Given the description of an element on the screen output the (x, y) to click on. 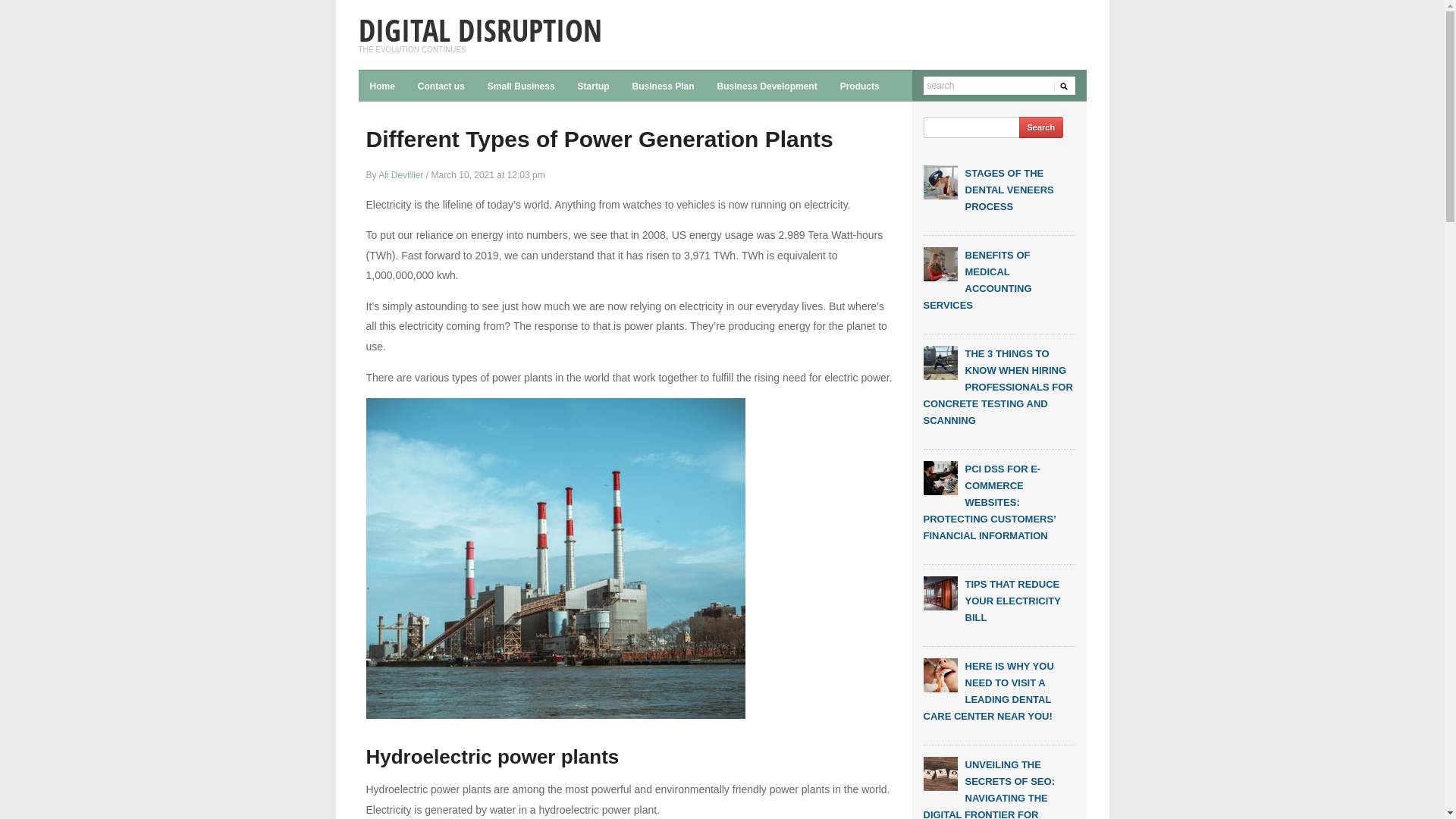
Business Plan Element type: text (663, 85)
Stages of the Dental Veneers Process Element type: hover (940, 181)
Contact us Element type: text (441, 85)
TIPS THAT REDUCE YOUR ELECTRICITY BILL Element type: text (1012, 600)
STAGES OF THE DENTAL VENEERS PROCESS Element type: text (1008, 189)
Startup Element type: text (593, 85)
Benefits of Medical Accounting Services Element type: hover (940, 263)
BENEFITS OF MEDICAL ACCOUNTING SERVICES Element type: text (977, 279)
Tips That Reduce Your Electricity Bill Element type: hover (940, 592)
Products Element type: text (859, 85)
Business Development Element type: text (767, 85)
DIGITAL DISRUPTION Element type: text (479, 29)
Small Business Element type: text (521, 85)
Search Element type: text (1041, 127)
Home Element type: text (381, 85)
Ali Devillier Element type: text (400, 174)
